Given the description of an element on the screen output the (x, y) to click on. 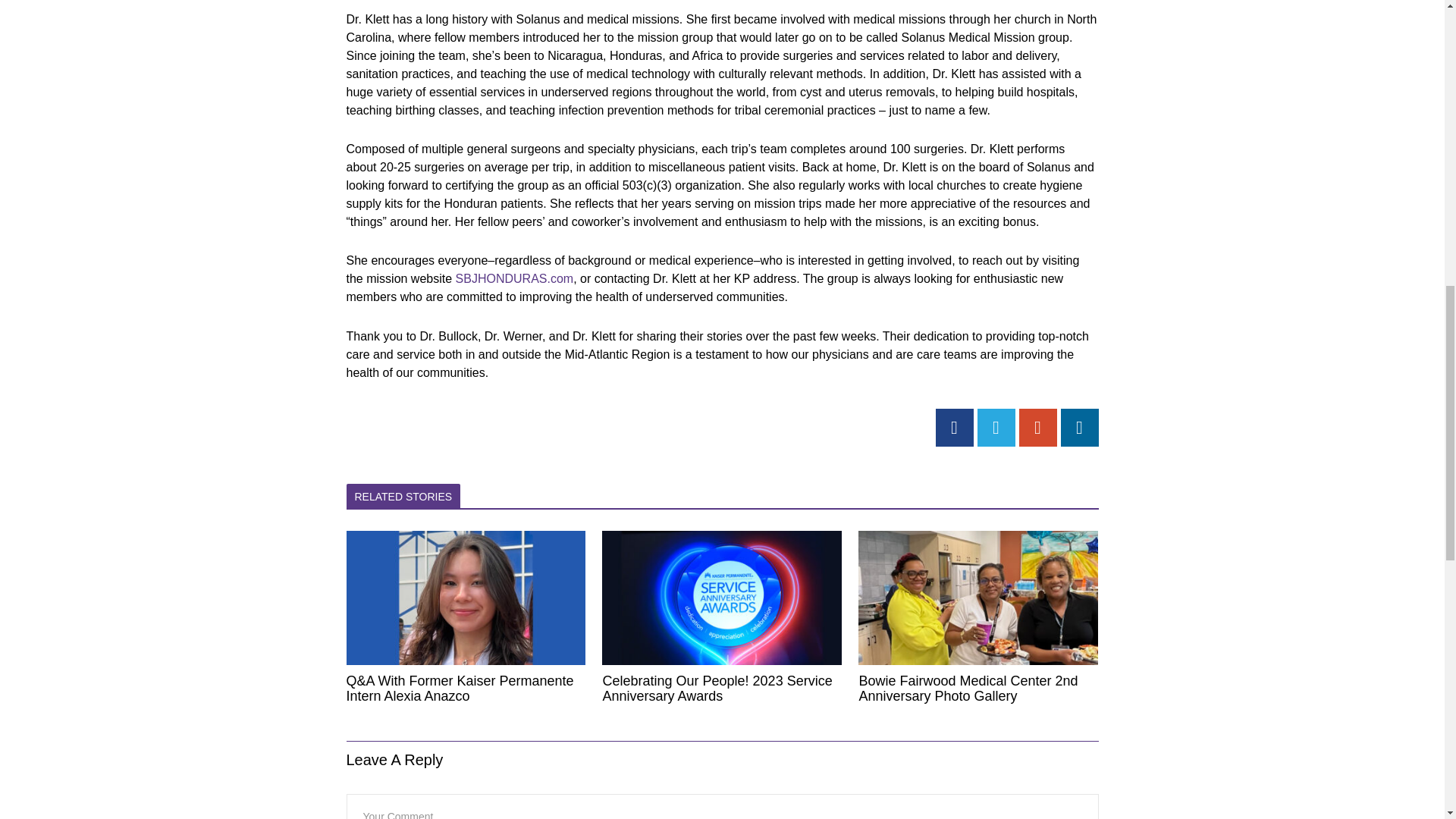
SBJHONDURAS.com (514, 278)
Celebrating Our People! 2023 Service Anniversary Awards (721, 688)
Twitter (995, 427)
LinkedIn (1078, 427)
Bowie Fairwood Medical Center 2nd Anniversary Photo Gallery (978, 688)
Facebook (955, 427)
